Given the description of an element on the screen output the (x, y) to click on. 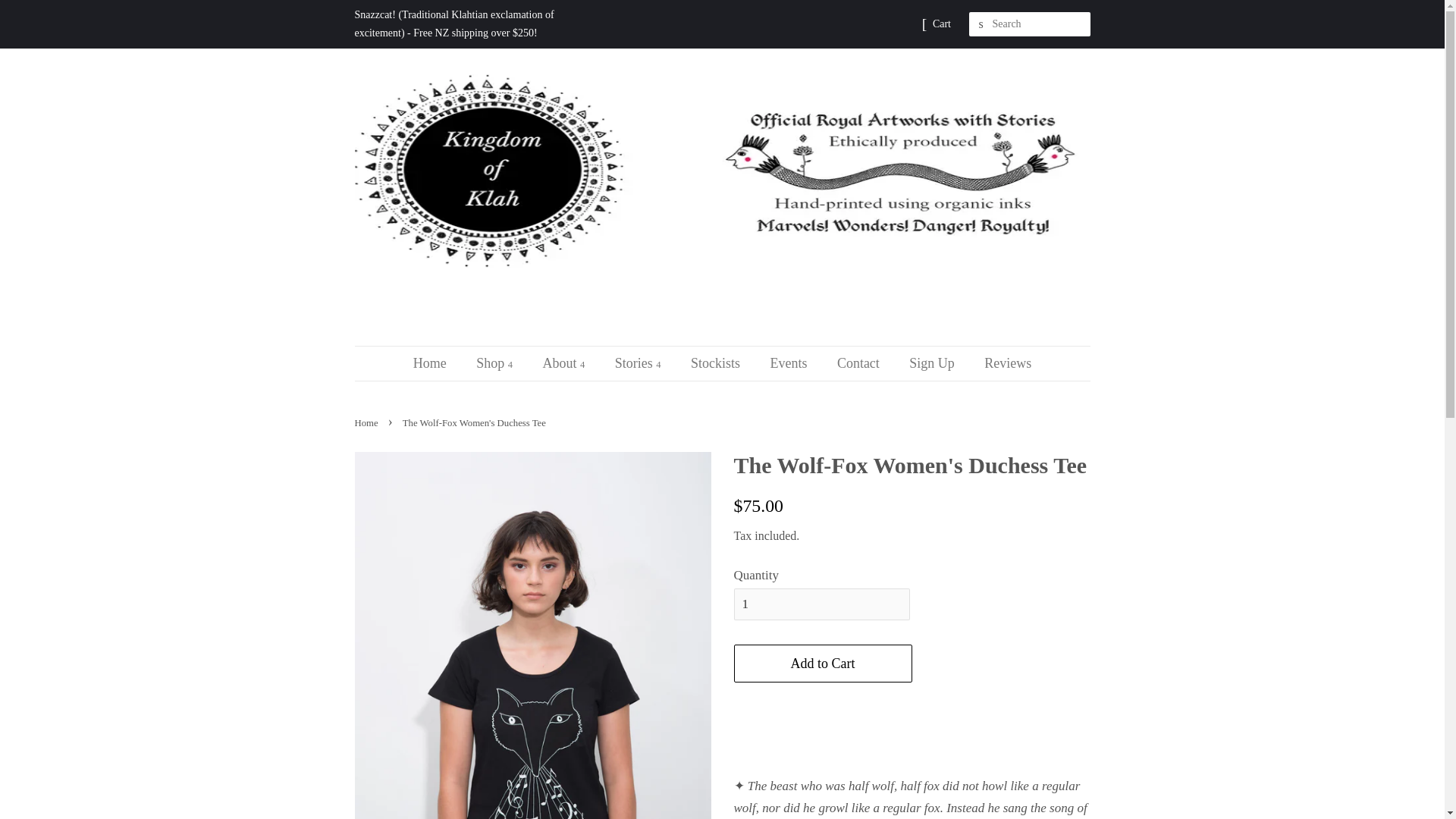
Cart (941, 24)
About (565, 363)
Search (980, 24)
Home (437, 363)
Back to the frontpage (368, 422)
1 (821, 603)
Shop (495, 363)
Stories (640, 363)
